Given the description of an element on the screen output the (x, y) to click on. 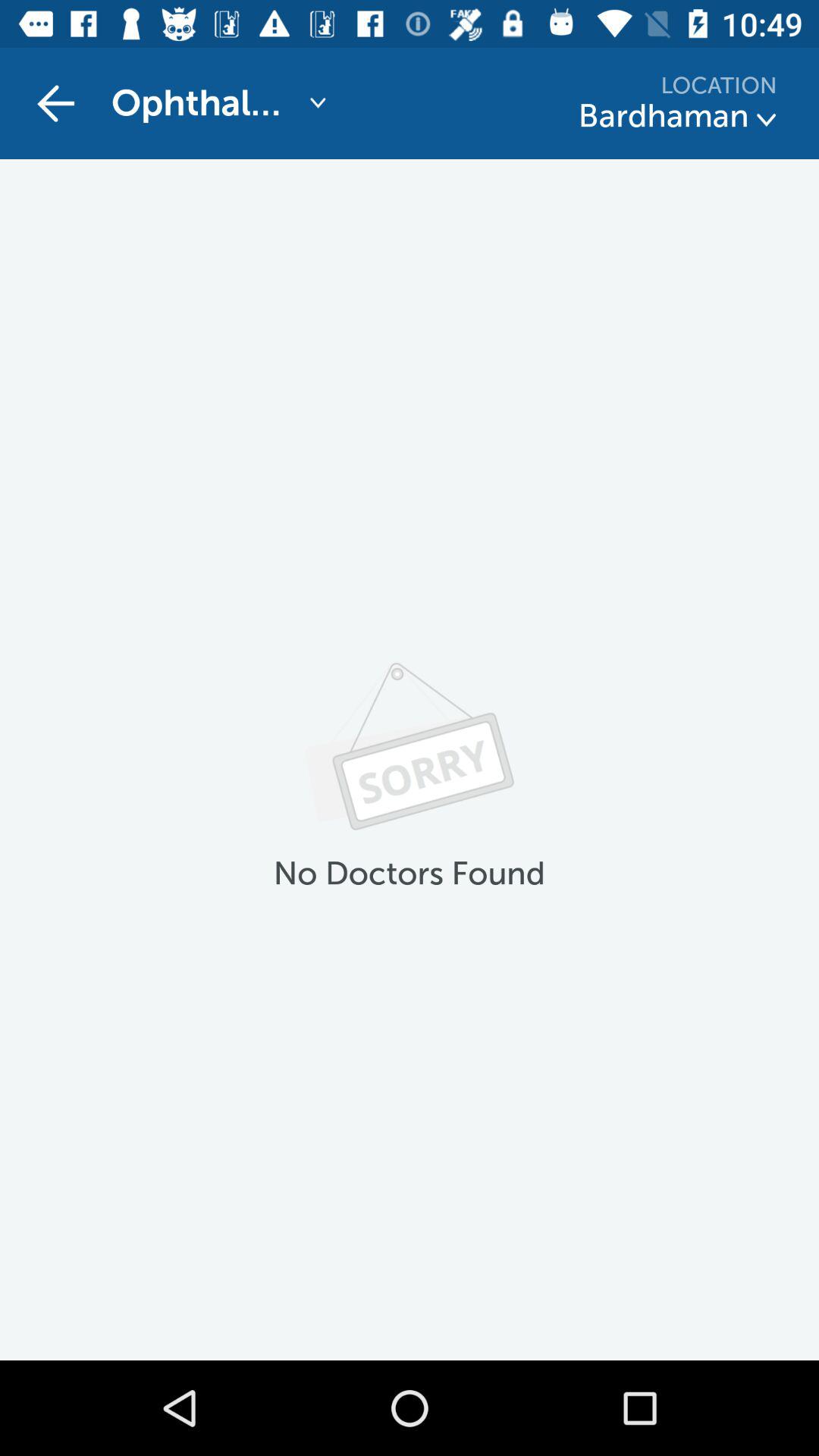
press the icon next to the ophthalmologist (55, 103)
